Given the description of an element on the screen output the (x, y) to click on. 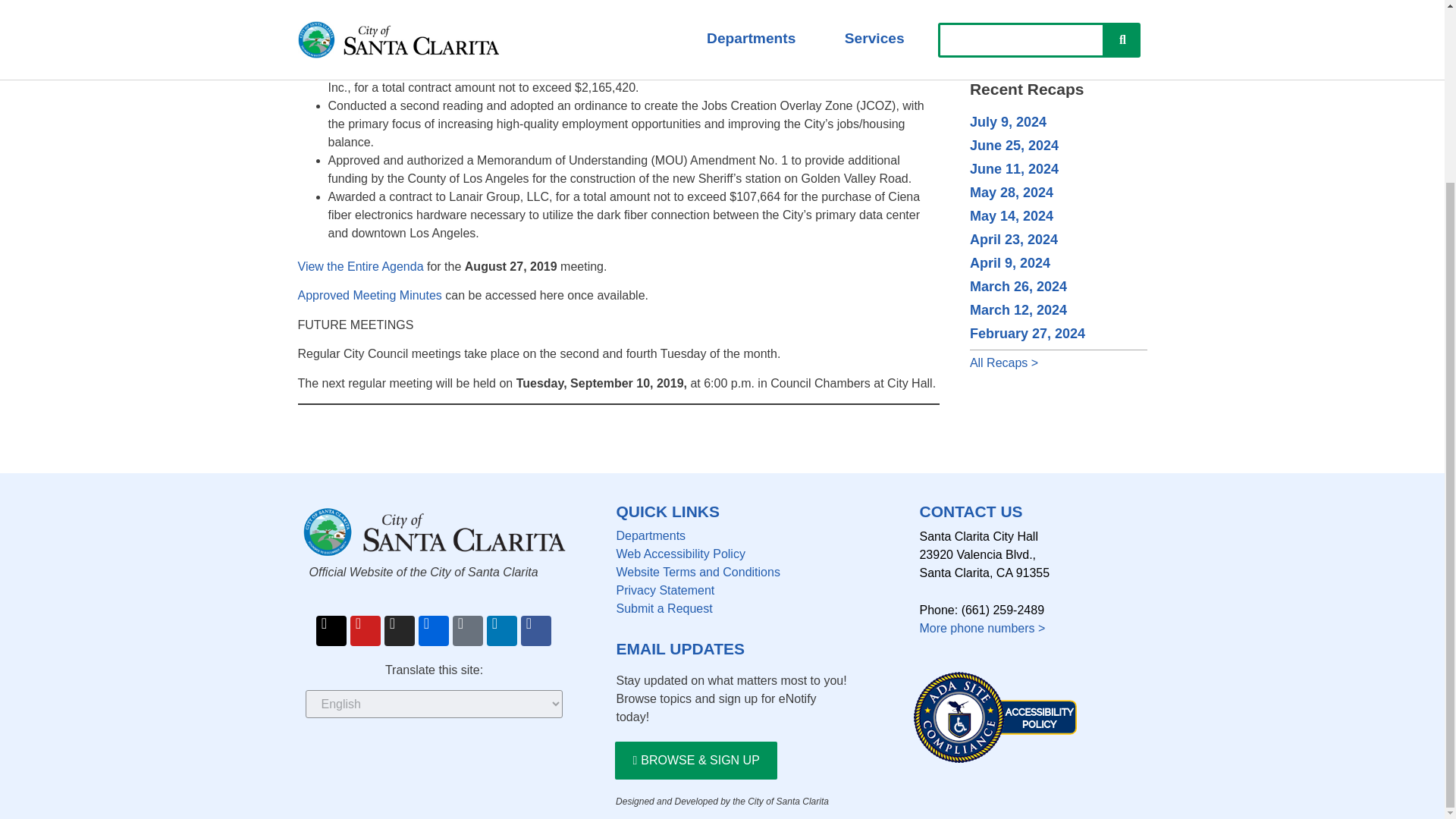
April 9, 2024 (1009, 263)
March 26, 2024 (1018, 286)
July 9, 2024 (1007, 121)
June 25, 2024 (1013, 145)
April 23, 2024 (1013, 239)
February 27, 2024 (1026, 333)
June 11, 2024 (1013, 168)
May 28, 2024 (1010, 192)
Approved Meeting Minutes (369, 295)
March 12, 2024 (1018, 309)
